Given the description of an element on the screen output the (x, y) to click on. 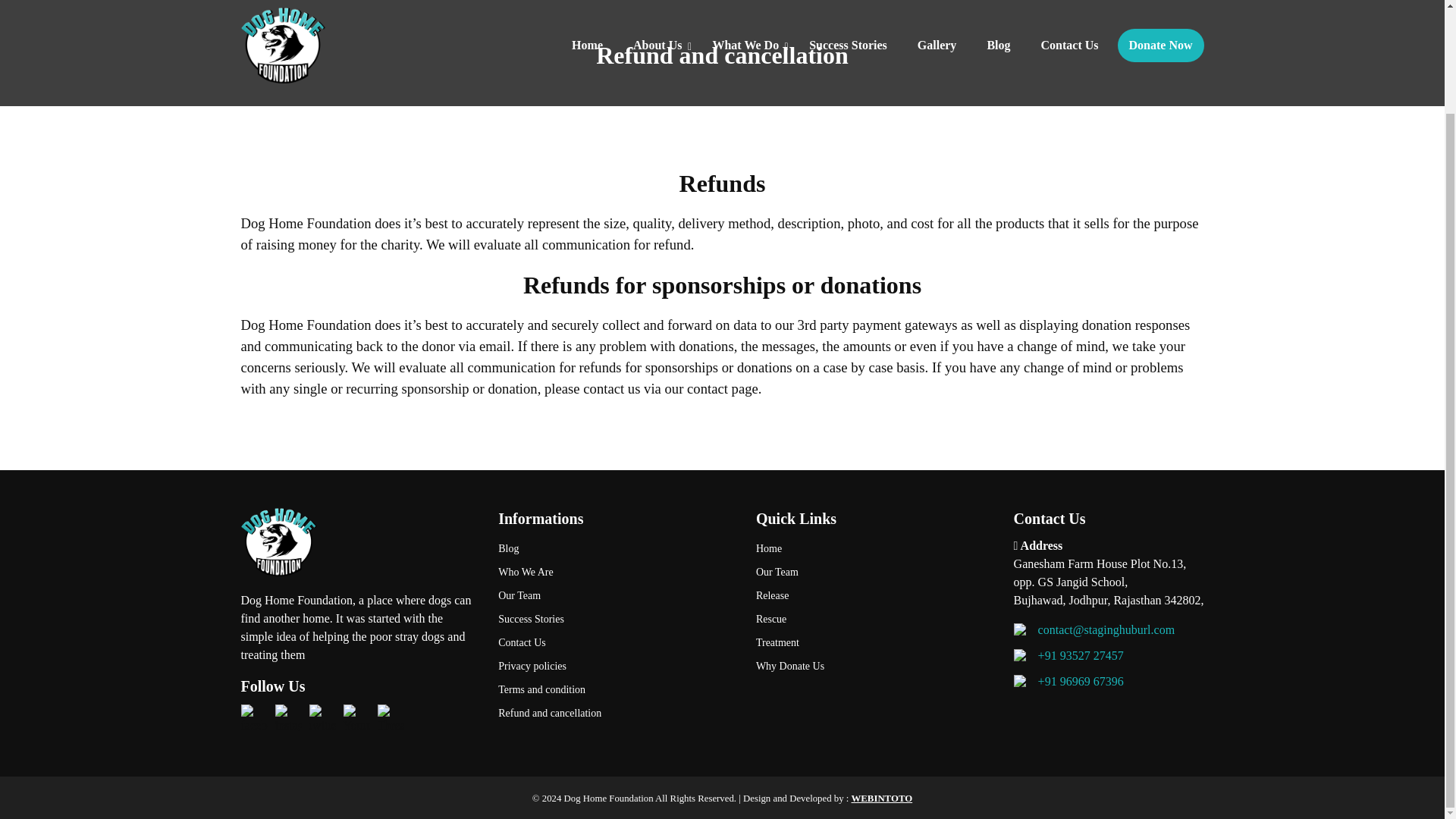
Our Team (873, 571)
Our Team (615, 595)
Why Donate Us (873, 666)
Privacy policies (615, 666)
Rescue (873, 618)
Contact Us (615, 642)
Success Stories (615, 618)
Who We Are (615, 571)
Home (873, 548)
Treatment (873, 642)
Refund and cancellation (615, 712)
Terms and condition (615, 689)
Release (873, 595)
Blog (615, 548)
